Given the description of an element on the screen output the (x, y) to click on. 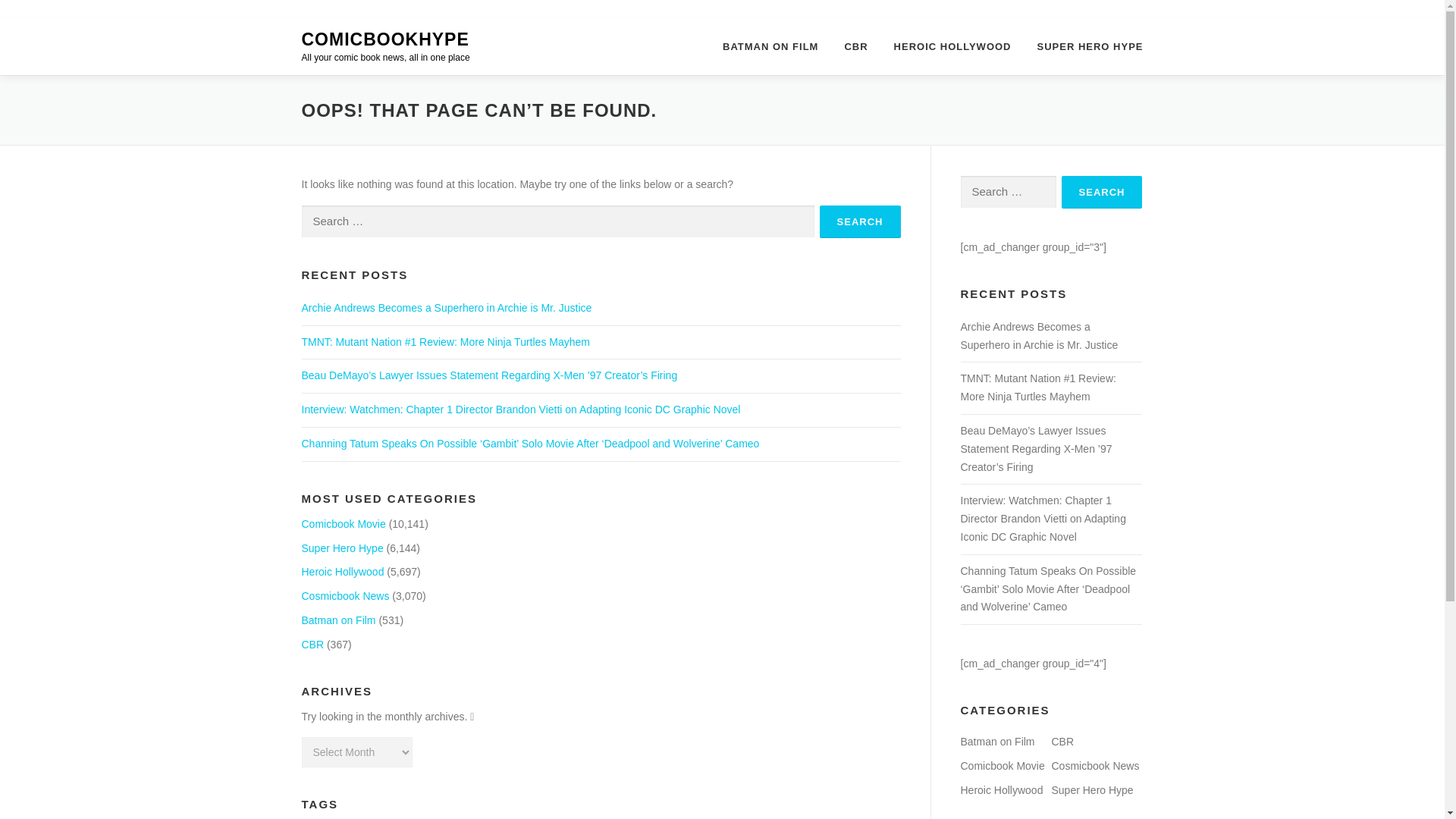
COMICBOOKHYPE (384, 39)
Batman on Film (338, 620)
Archie Andrews Becomes a Superhero in Archie is Mr. Justice (446, 307)
CBR (312, 644)
Comicbook Movie (343, 523)
Search (860, 221)
Search (860, 221)
Super Hero Hype (342, 548)
Skip to content (34, 27)
BATMAN ON FILM (770, 46)
